Given the description of an element on the screen output the (x, y) to click on. 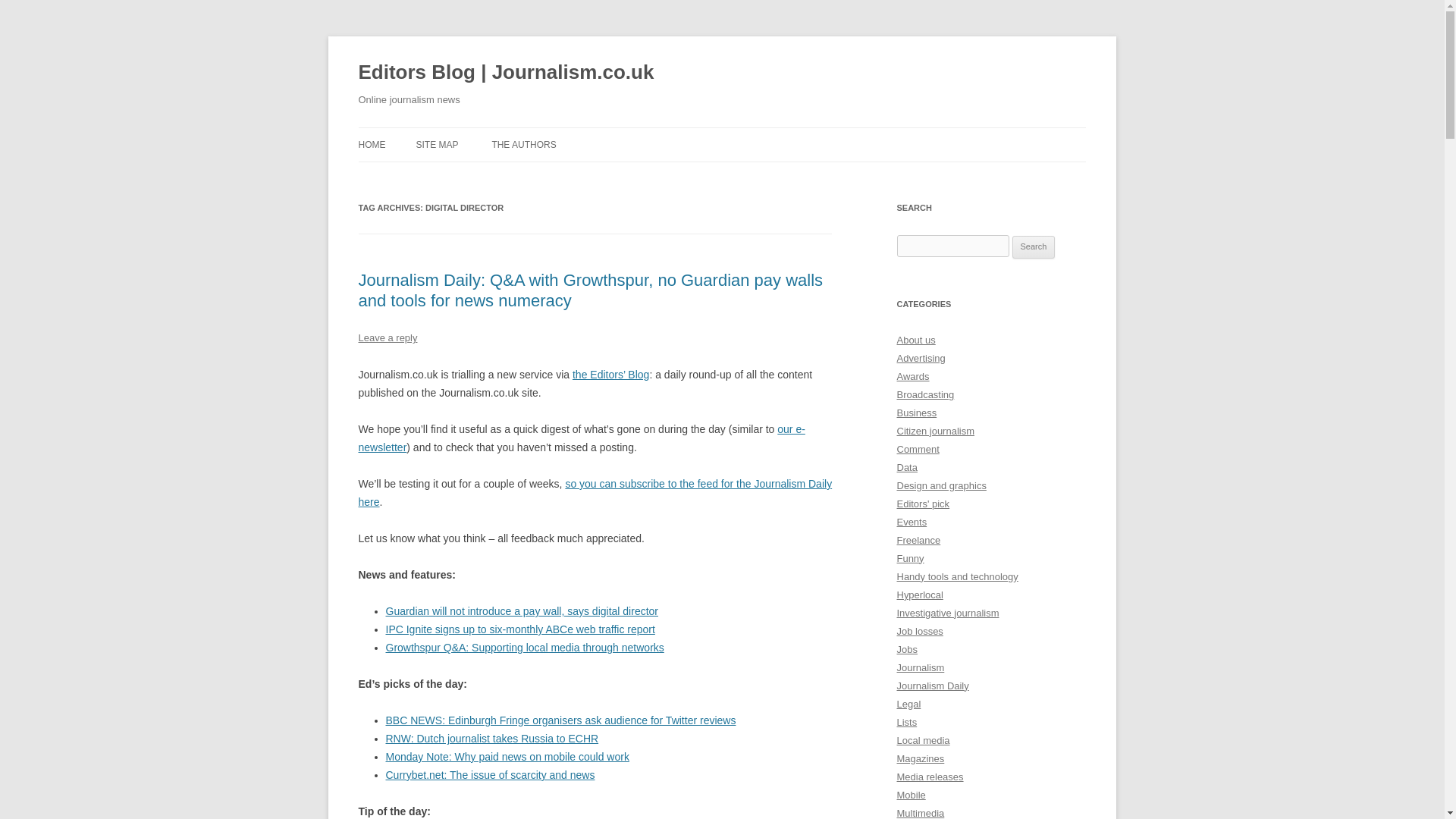
Search (1033, 246)
IPC Ignite signs up to six-monthly ABCe web traffic report (519, 629)
SITE MAP (436, 144)
Monday Note: Why paid news on mobile could work (506, 756)
Currybet.net: The issue of scarcity and news (489, 775)
RNW: Dutch journalist takes Russia to ECHR (491, 738)
our e-newsletter (581, 438)
